Given the description of an element on the screen output the (x, y) to click on. 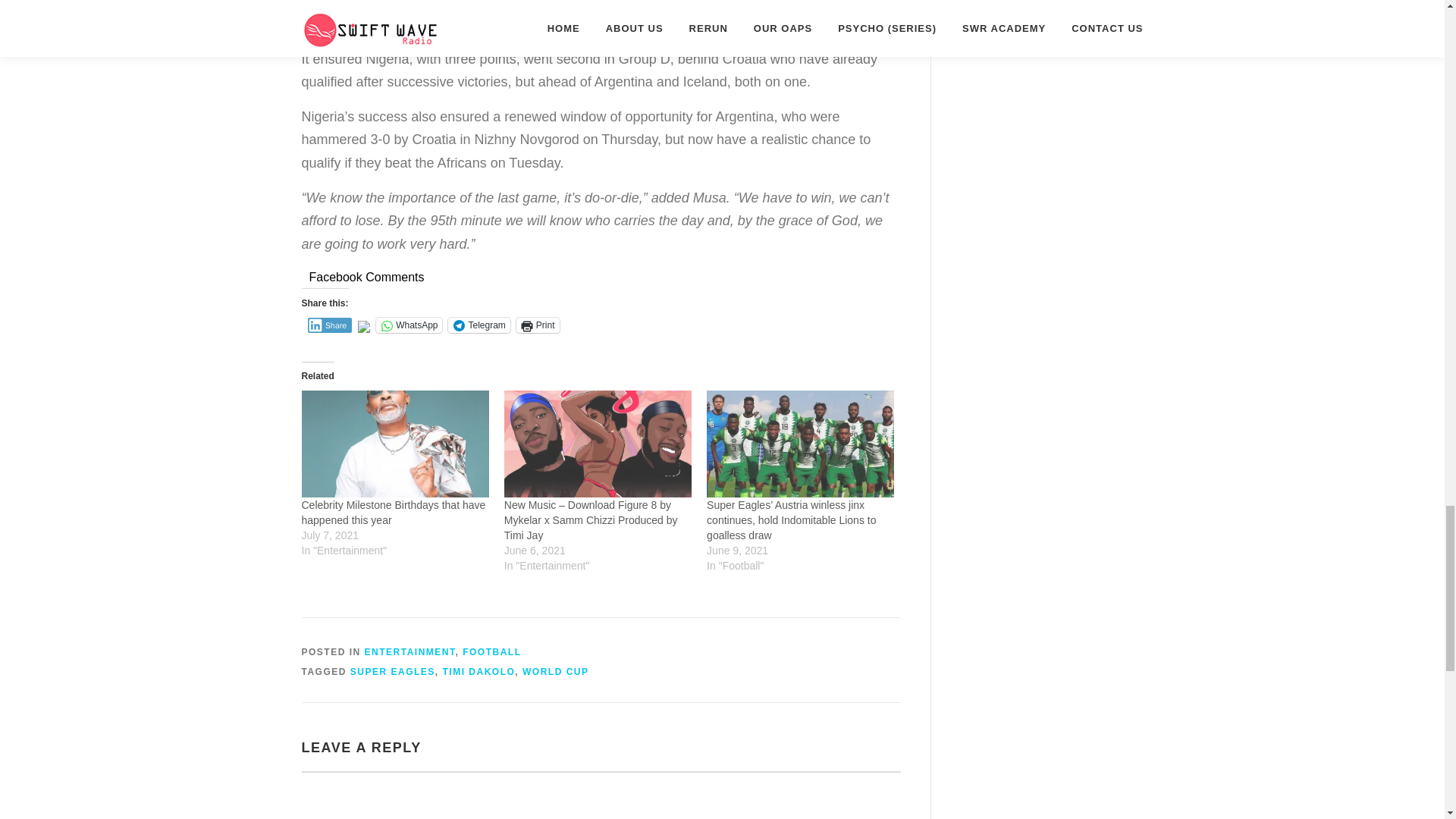
SUPER EAGLES (392, 671)
Click to print (537, 324)
Print (537, 324)
Click to share on WhatsApp (408, 324)
WhatsApp (408, 324)
Telegram (478, 324)
WORLD CUP (555, 671)
Click to share on Telegram (478, 324)
Share (329, 324)
TIMI DAKOLO (478, 671)
Celebrity Milestone Birthdays that have happened this year (393, 512)
FOOTBALL (492, 652)
ENTERTAINMENT (410, 652)
Comment Form (601, 795)
Celebrity Milestone Birthdays that have happened this year (395, 443)
